Given the description of an element on the screen output the (x, y) to click on. 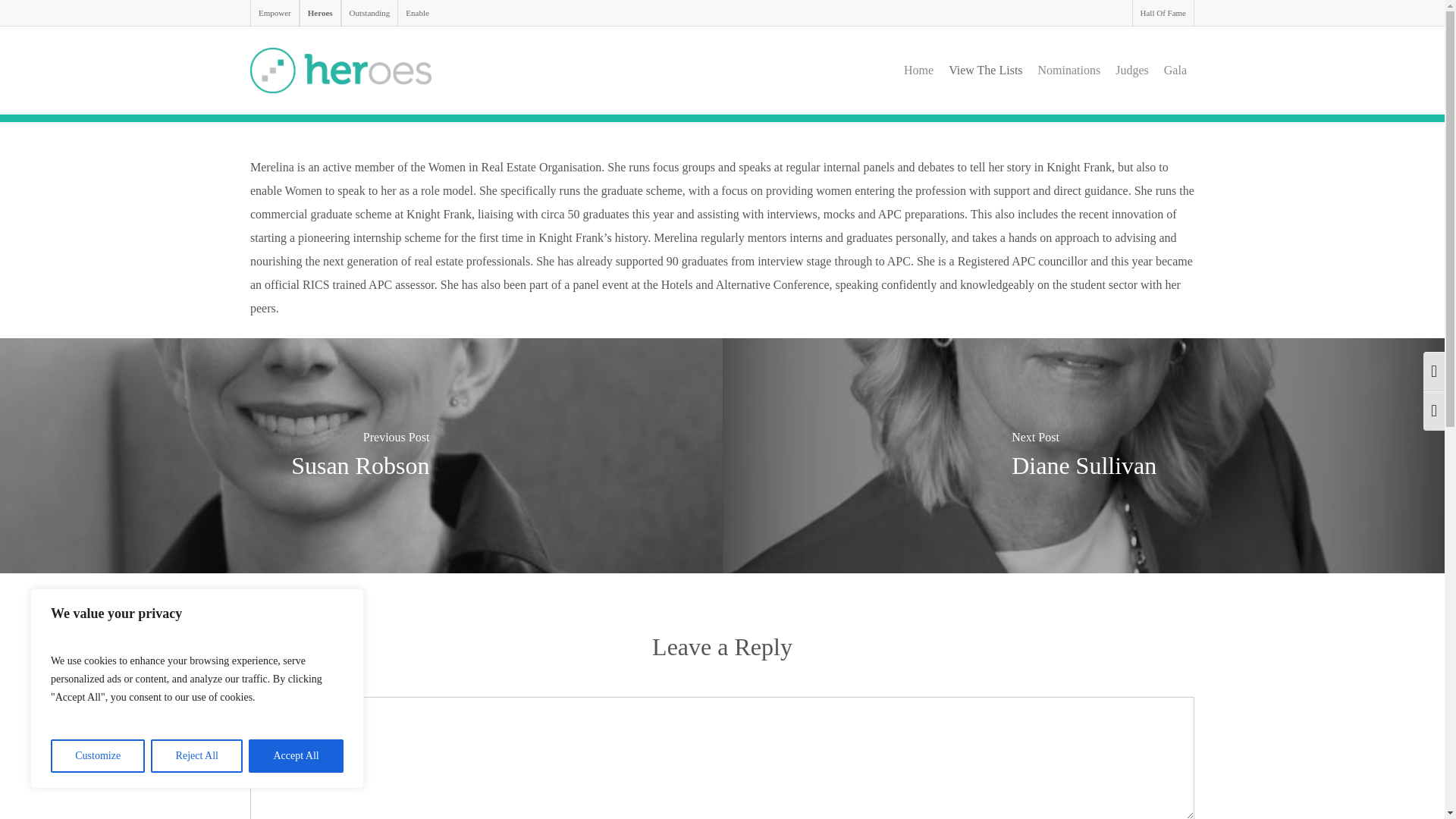
Nominations (1069, 70)
Accept All (295, 756)
View The Lists (984, 70)
Outstanding (368, 13)
Reject All (197, 756)
Heroes (319, 13)
Hall Of Fame (1162, 13)
Empower (274, 13)
Customize (97, 756)
Enable (416, 13)
